Given the description of an element on the screen output the (x, y) to click on. 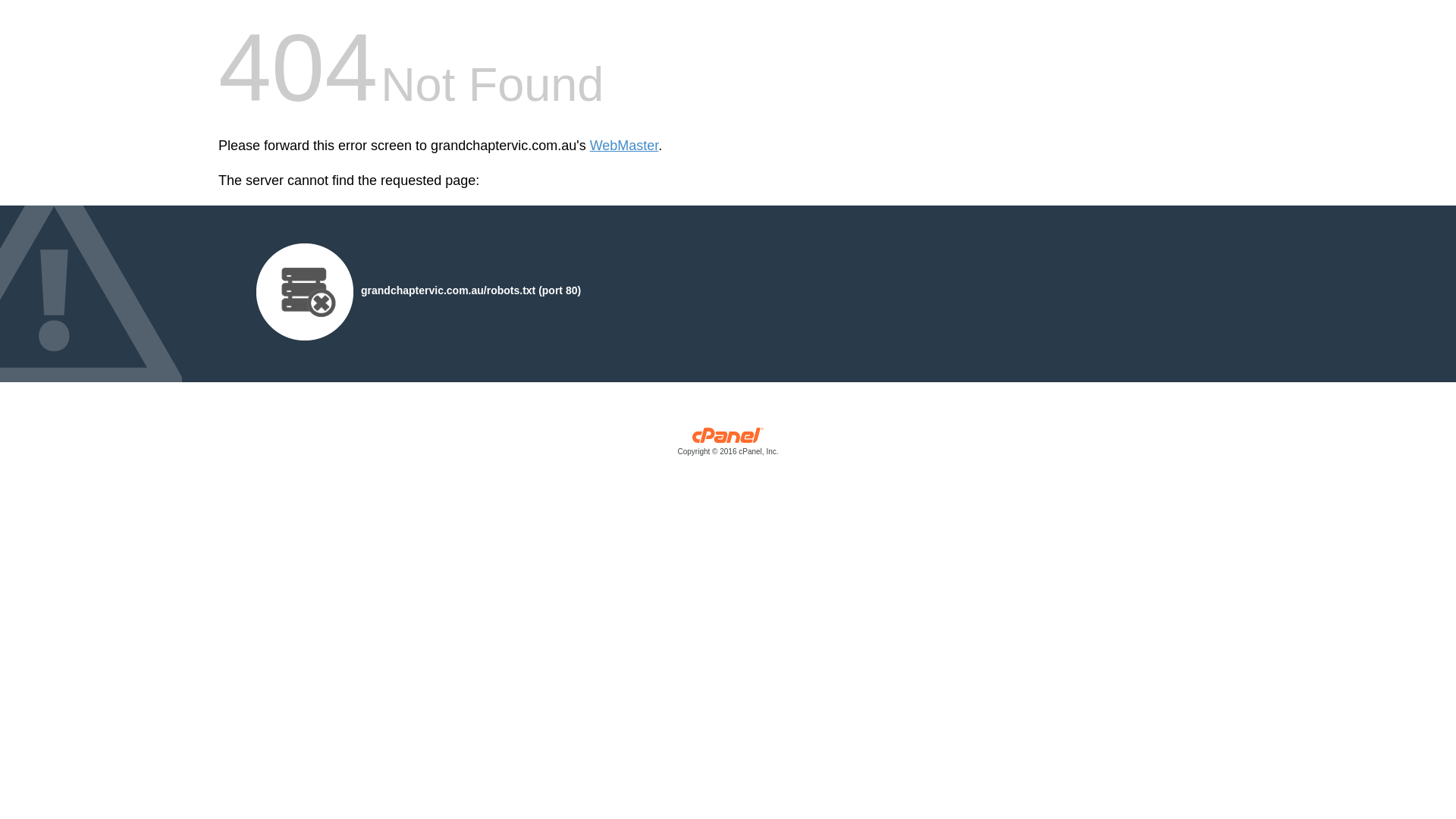
WebMaster Element type: text (623, 145)
